Given the description of an element on the screen output the (x, y) to click on. 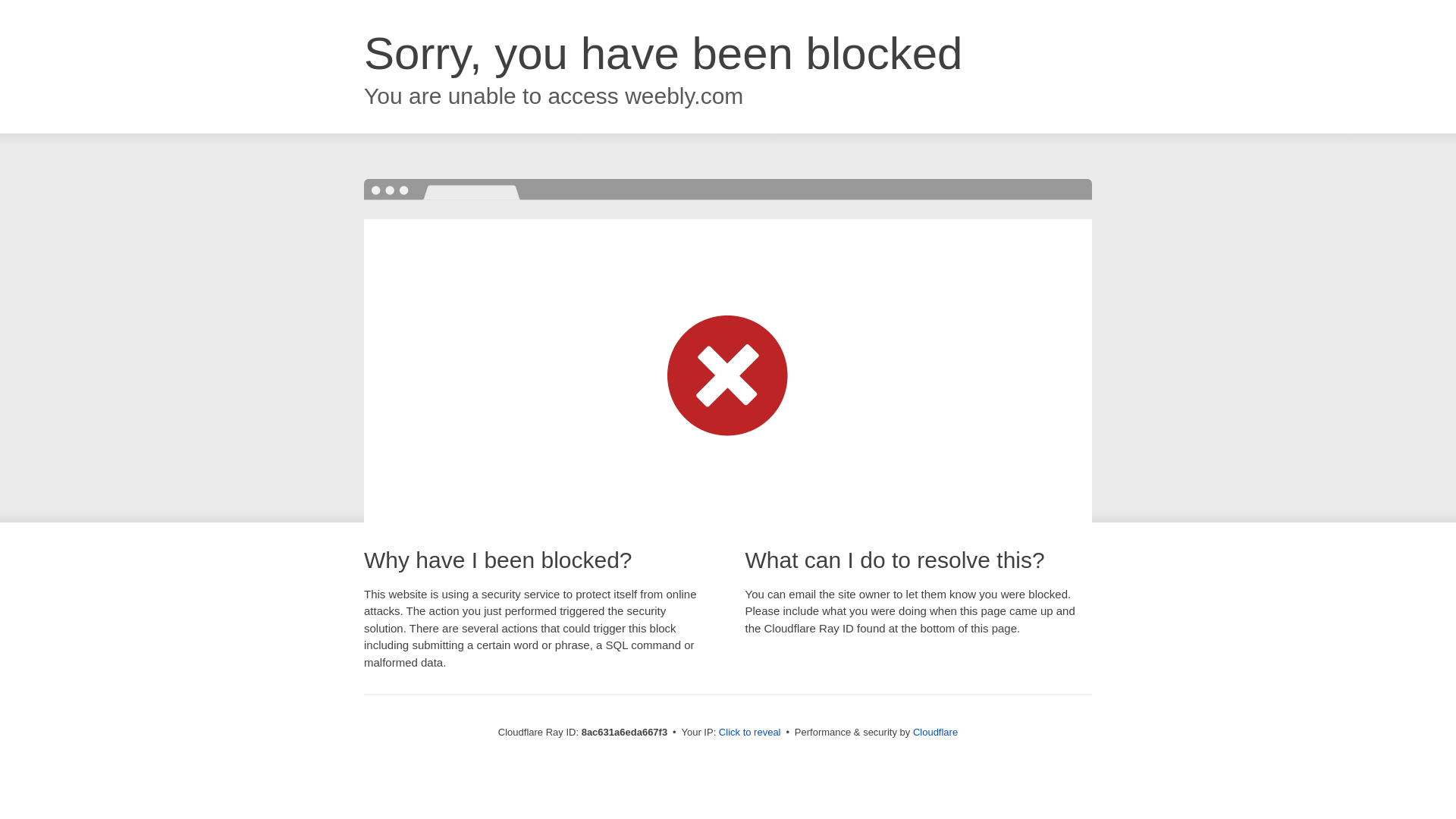
Click to reveal (749, 732)
Cloudflare (935, 731)
